Given the description of an element on the screen output the (x, y) to click on. 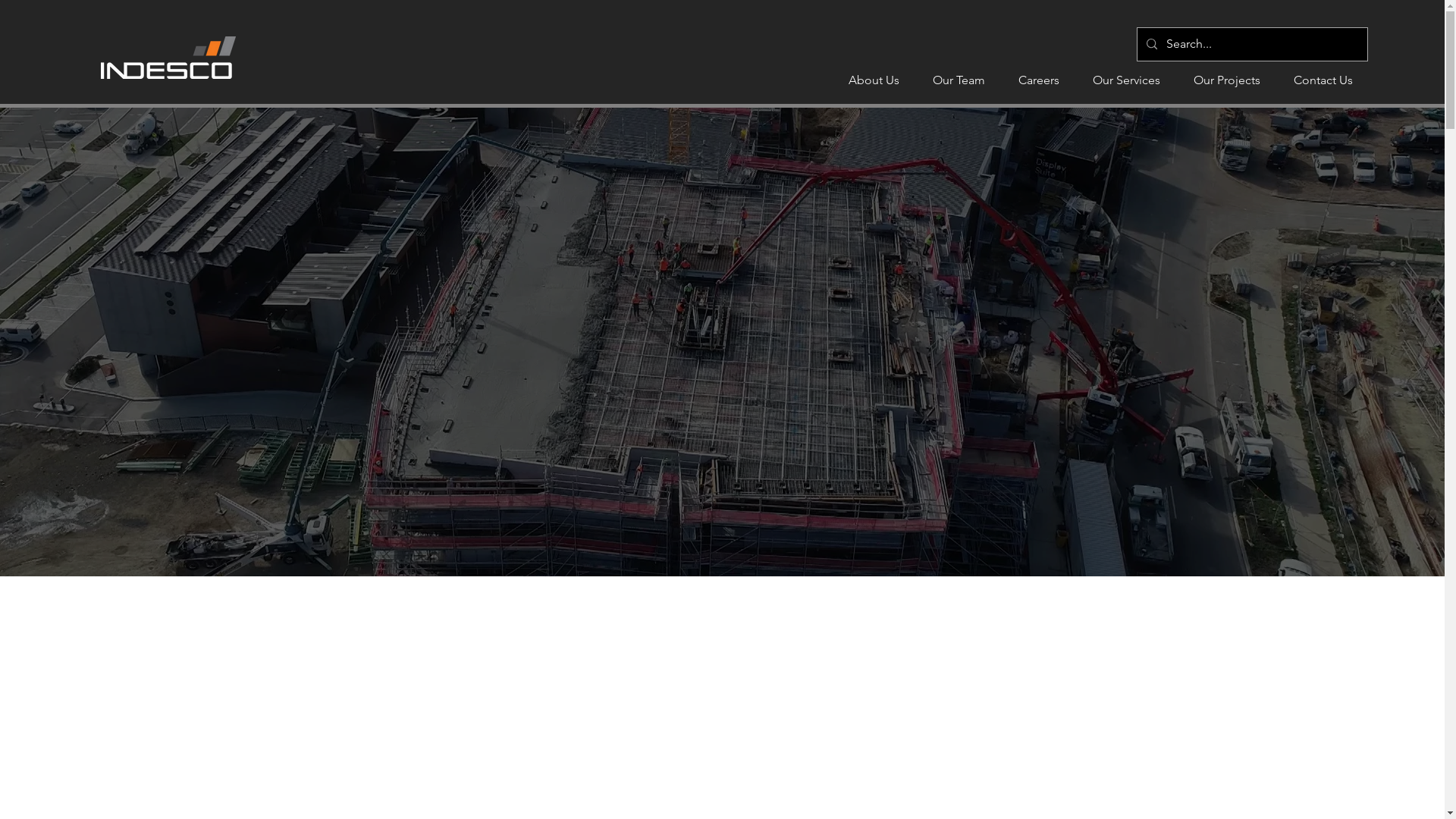
Indesco Logo.png Element type: hover (167, 57)
Our Services Element type: text (1126, 80)
Our Team Element type: text (958, 80)
Our Projects Element type: text (1226, 80)
Contact Us Element type: text (1323, 80)
About Us Element type: text (873, 80)
Careers Element type: text (1038, 80)
